Given the description of an element on the screen output the (x, y) to click on. 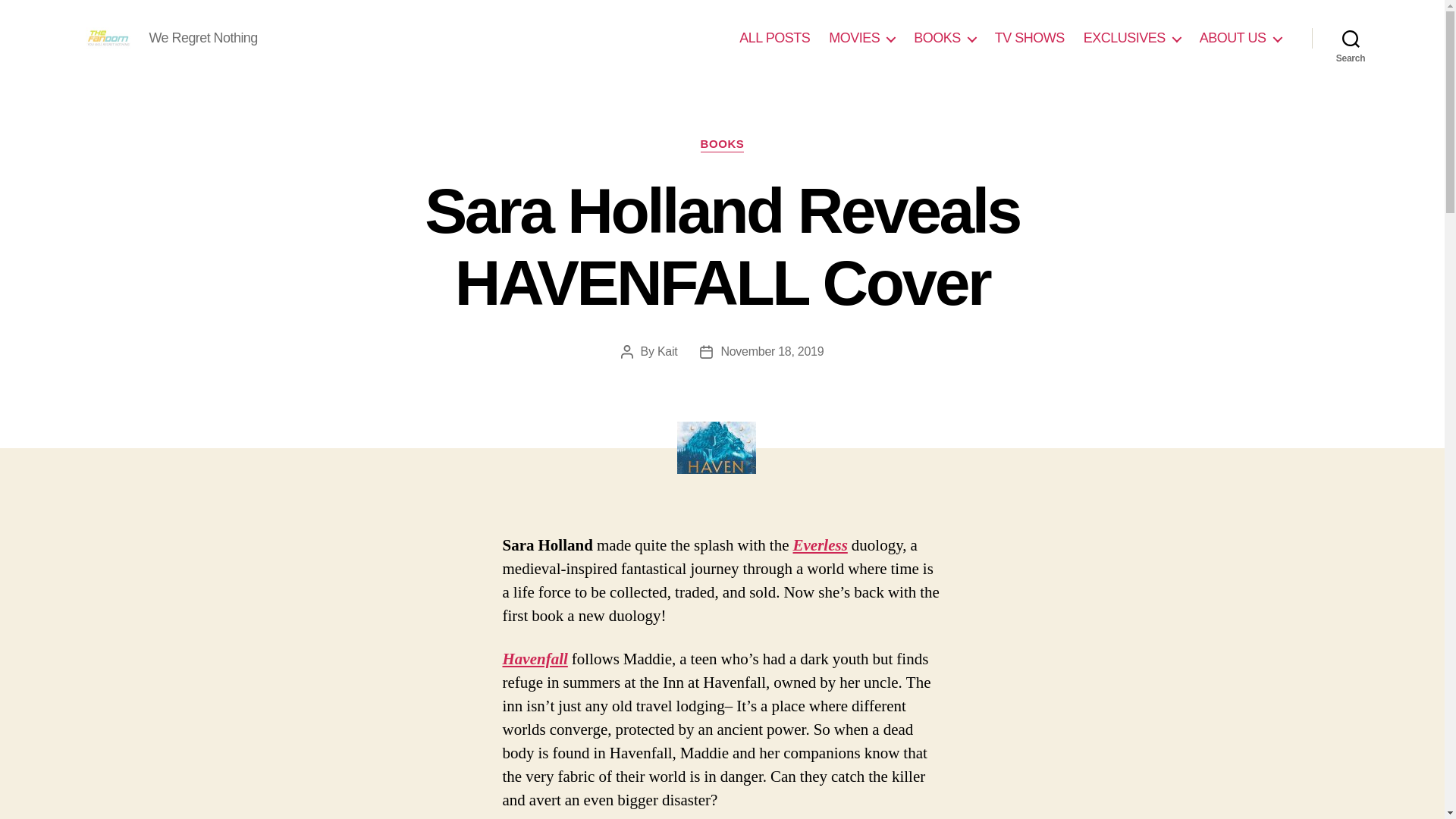
BOOKS (722, 144)
MOVIES (861, 38)
BOOKS (944, 38)
ABOUT US (1240, 38)
EXCLUSIVES (1131, 38)
Search (1350, 37)
ALL POSTS (774, 38)
TV SHOWS (1029, 38)
Kait (668, 350)
